Given the description of an element on the screen output the (x, y) to click on. 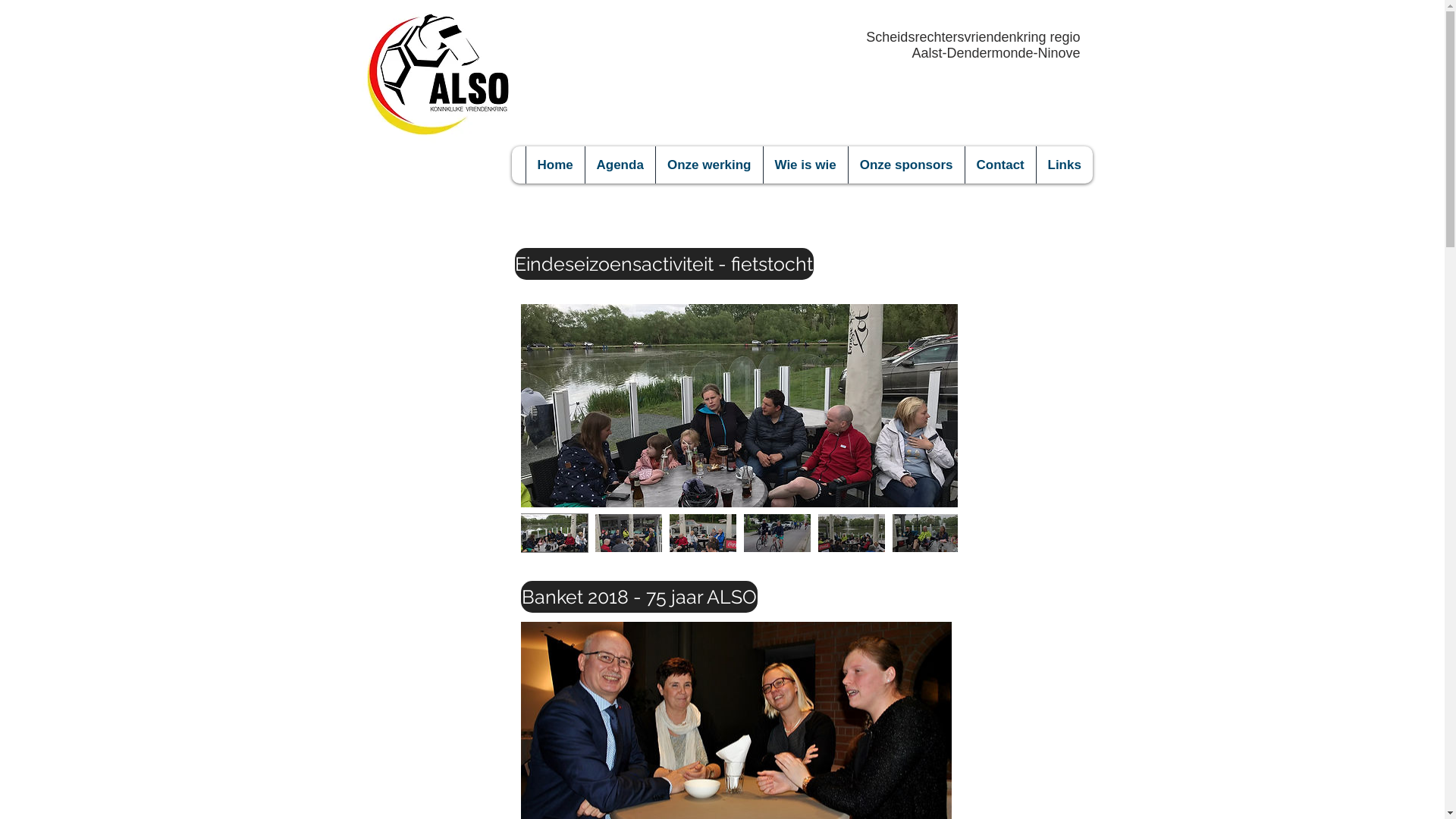
Contact Element type: text (999, 164)
Agenda Element type: text (618, 164)
Home Element type: text (553, 164)
Onze sponsors Element type: text (905, 164)
Onze werking Element type: text (708, 164)
Links Element type: text (1063, 164)
